Given the description of an element on the screen output the (x, y) to click on. 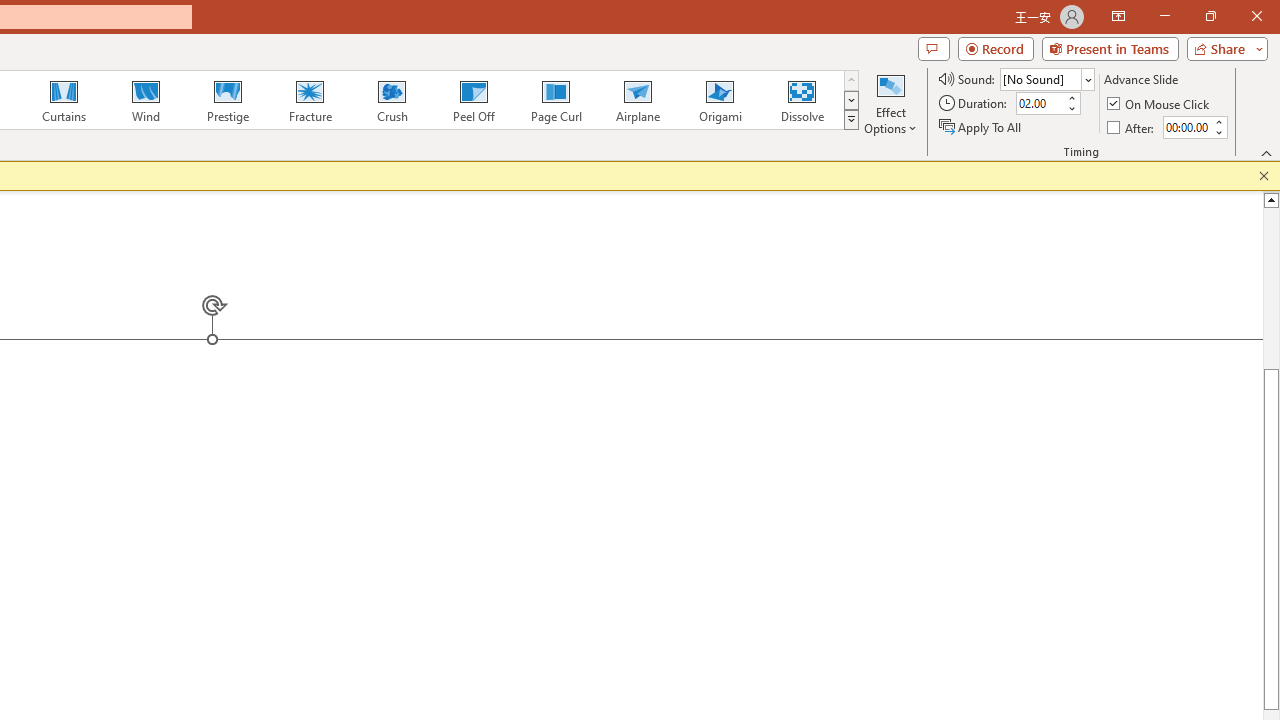
Dissolve (802, 100)
Curtains (63, 100)
Peel Off (473, 100)
On Mouse Click (1159, 103)
After (1131, 126)
